Given the description of an element on the screen output the (x, y) to click on. 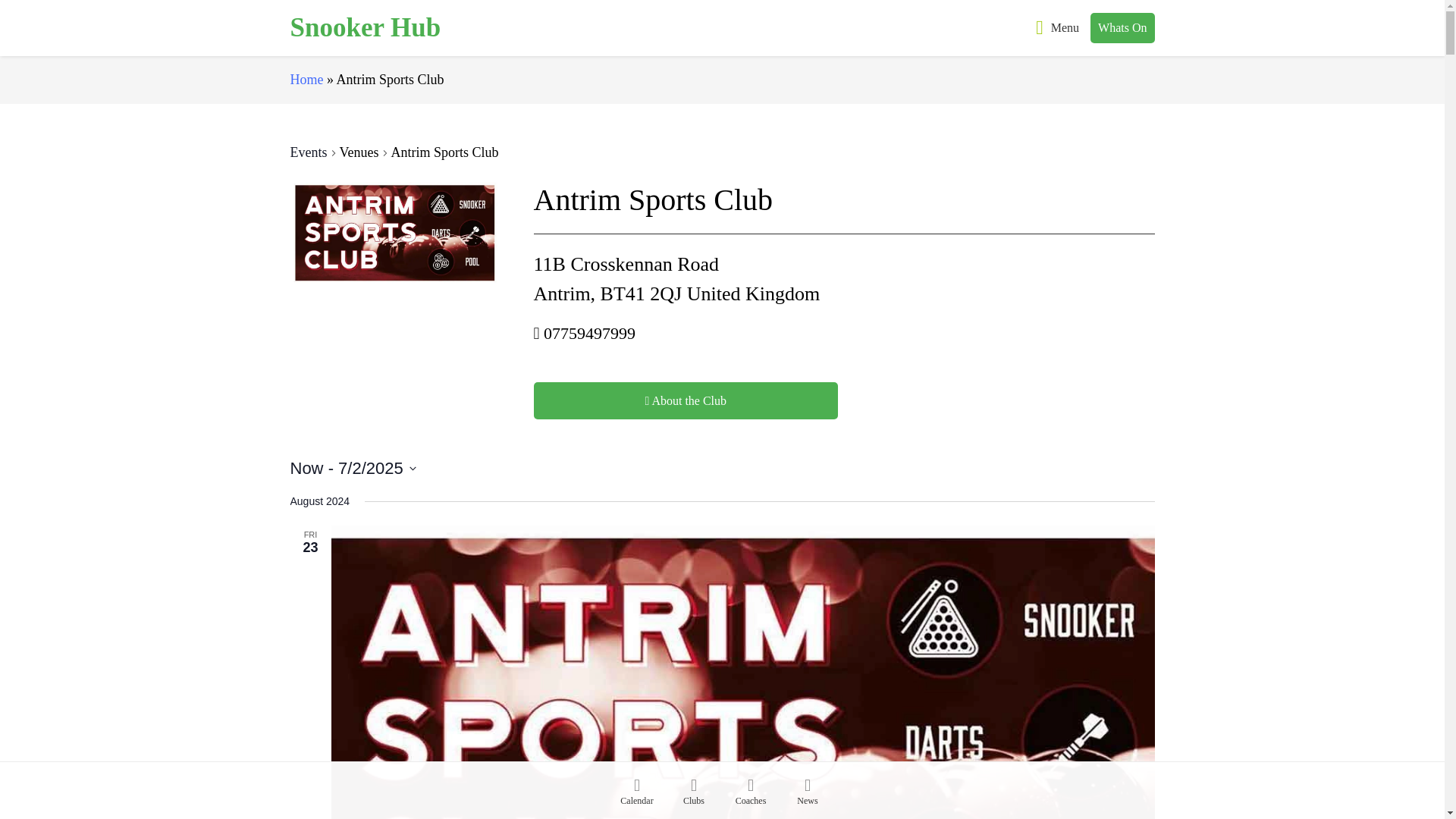
Menu (1056, 27)
About the Club (686, 400)
Events (309, 153)
Calendar (636, 794)
Click to toggle datepicker (351, 467)
Snooker Hub (365, 28)
Coaches (751, 794)
Home (306, 79)
Whats On (1122, 27)
